Given the description of an element on the screen output the (x, y) to click on. 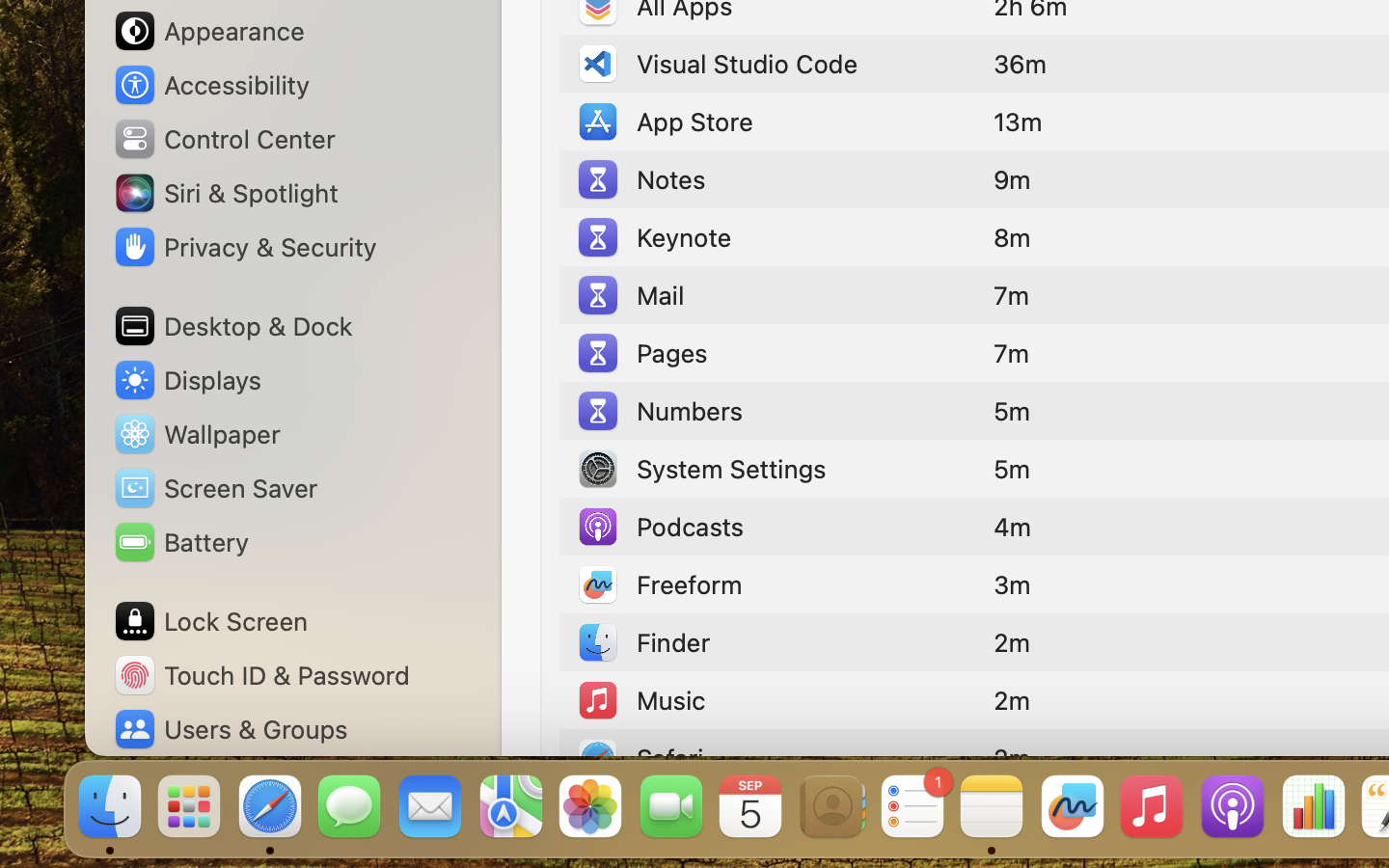
2m Element type: AXStaticText (1011, 641)
Wallpaper Element type: AXStaticText (195, 433)
Displays Element type: AXStaticText (186, 379)
13m Element type: AXStaticText (1017, 121)
36m Element type: AXStaticText (1020, 63)
